Given the description of an element on the screen output the (x, y) to click on. 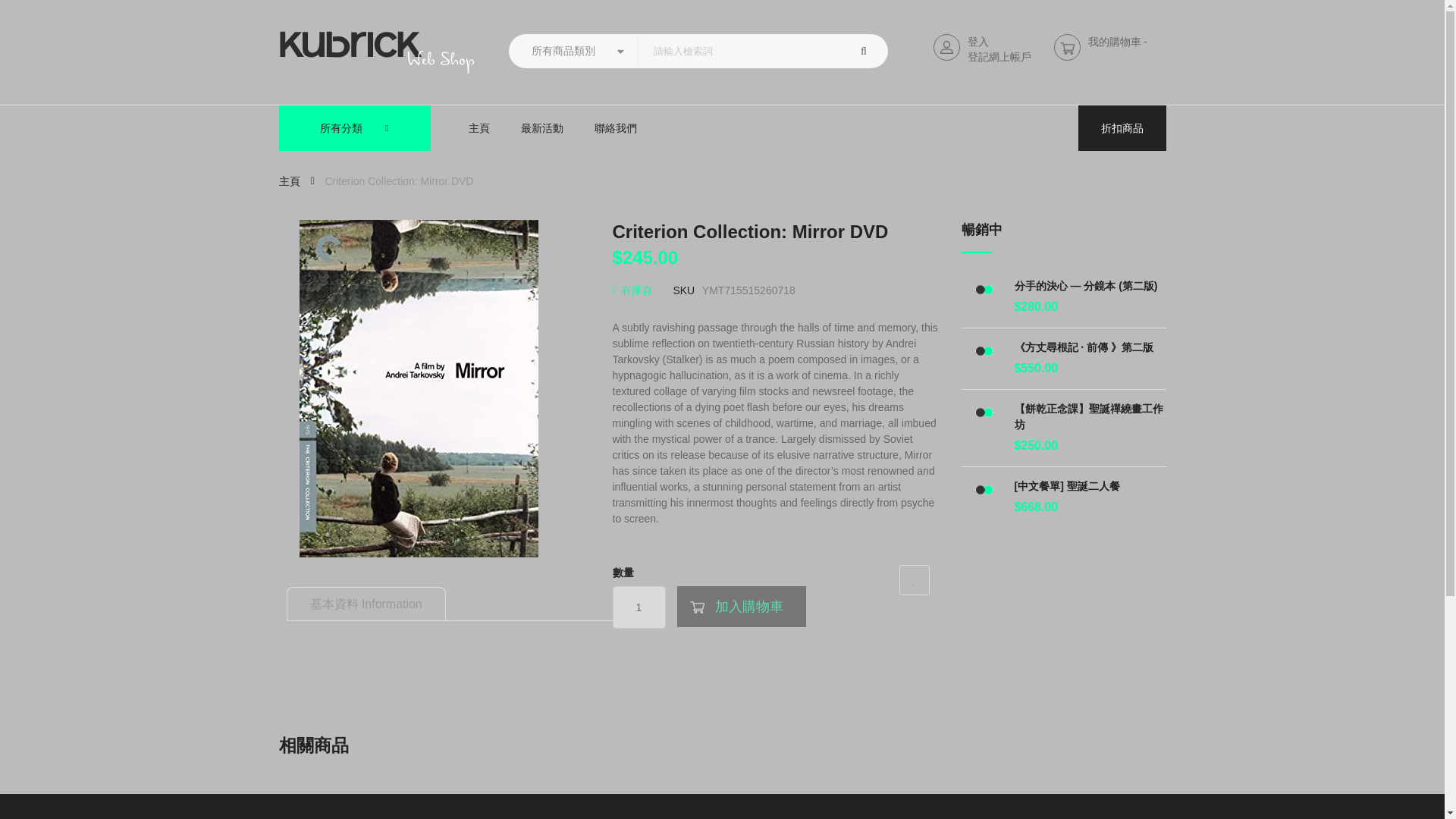
1 (638, 607)
